Given the description of an element on the screen output the (x, y) to click on. 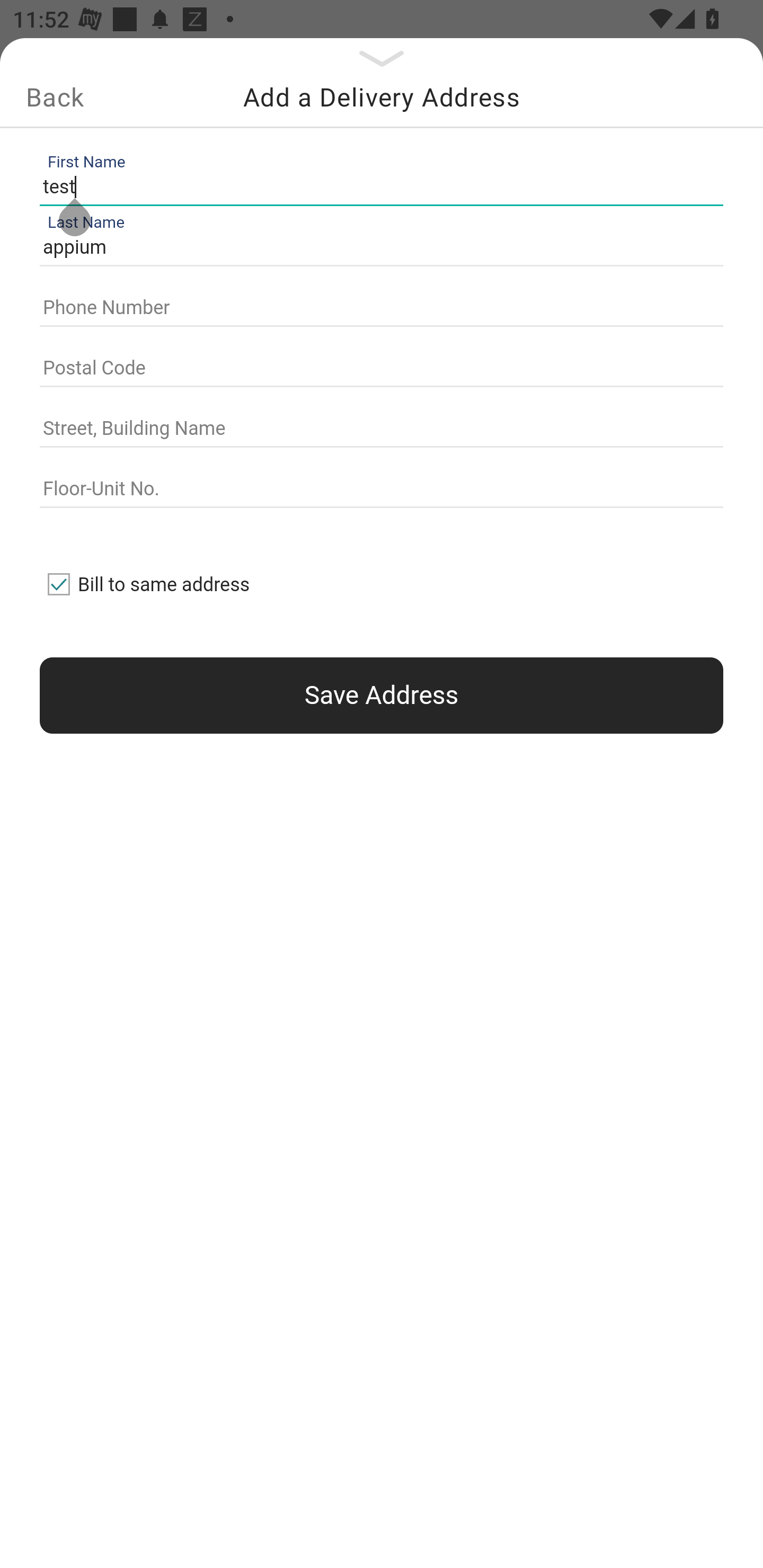
Back (54, 96)
Add a Delivery Address (381, 96)
test (377, 186)
appium (377, 247)
Save Address (381, 694)
